Given the description of an element on the screen output the (x, y) to click on. 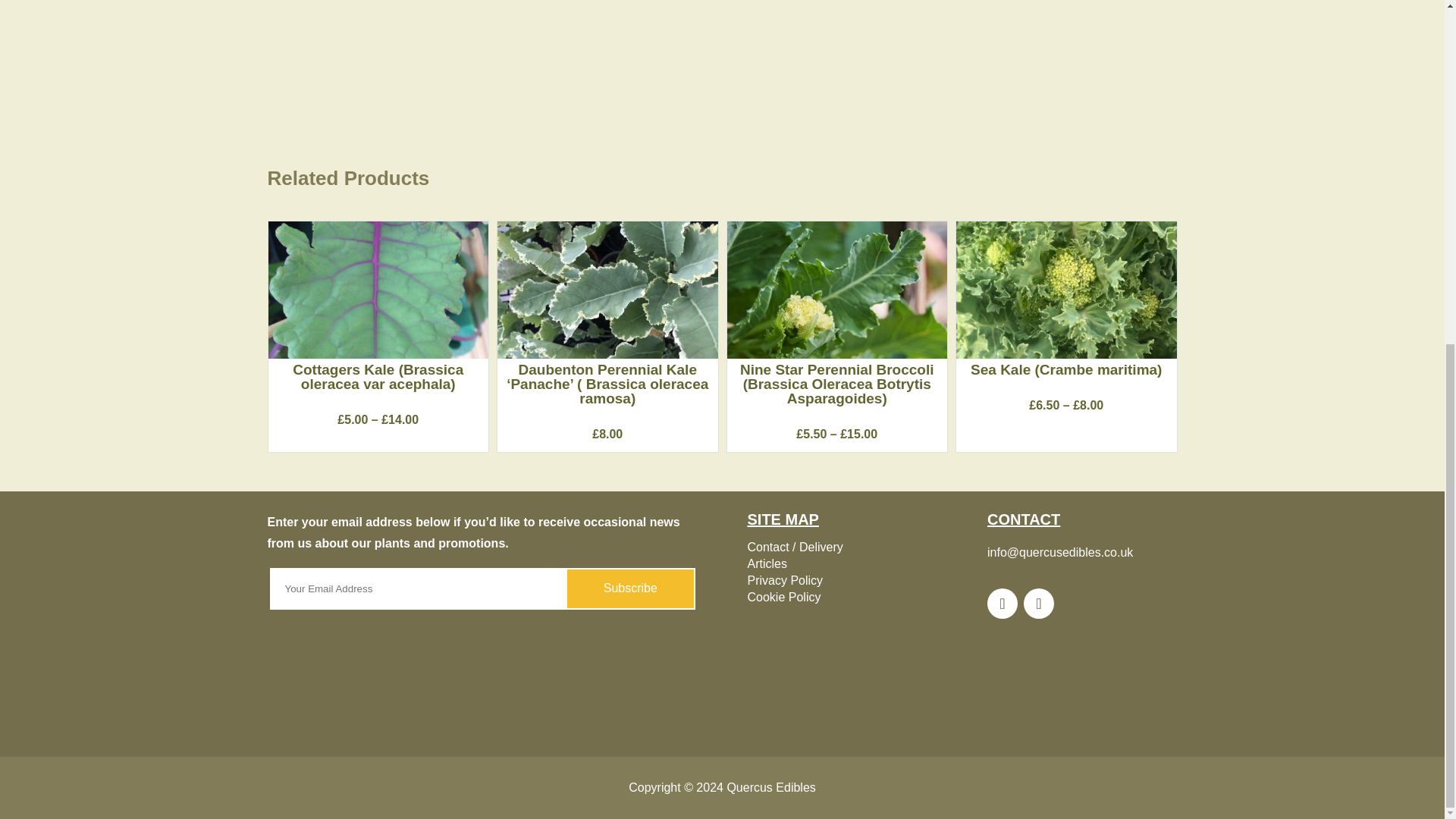
Subscribe (630, 588)
Follow on Instagram (1038, 603)
Subscribe (630, 588)
Follow on Facebook (1002, 603)
